Given the description of an element on the screen output the (x, y) to click on. 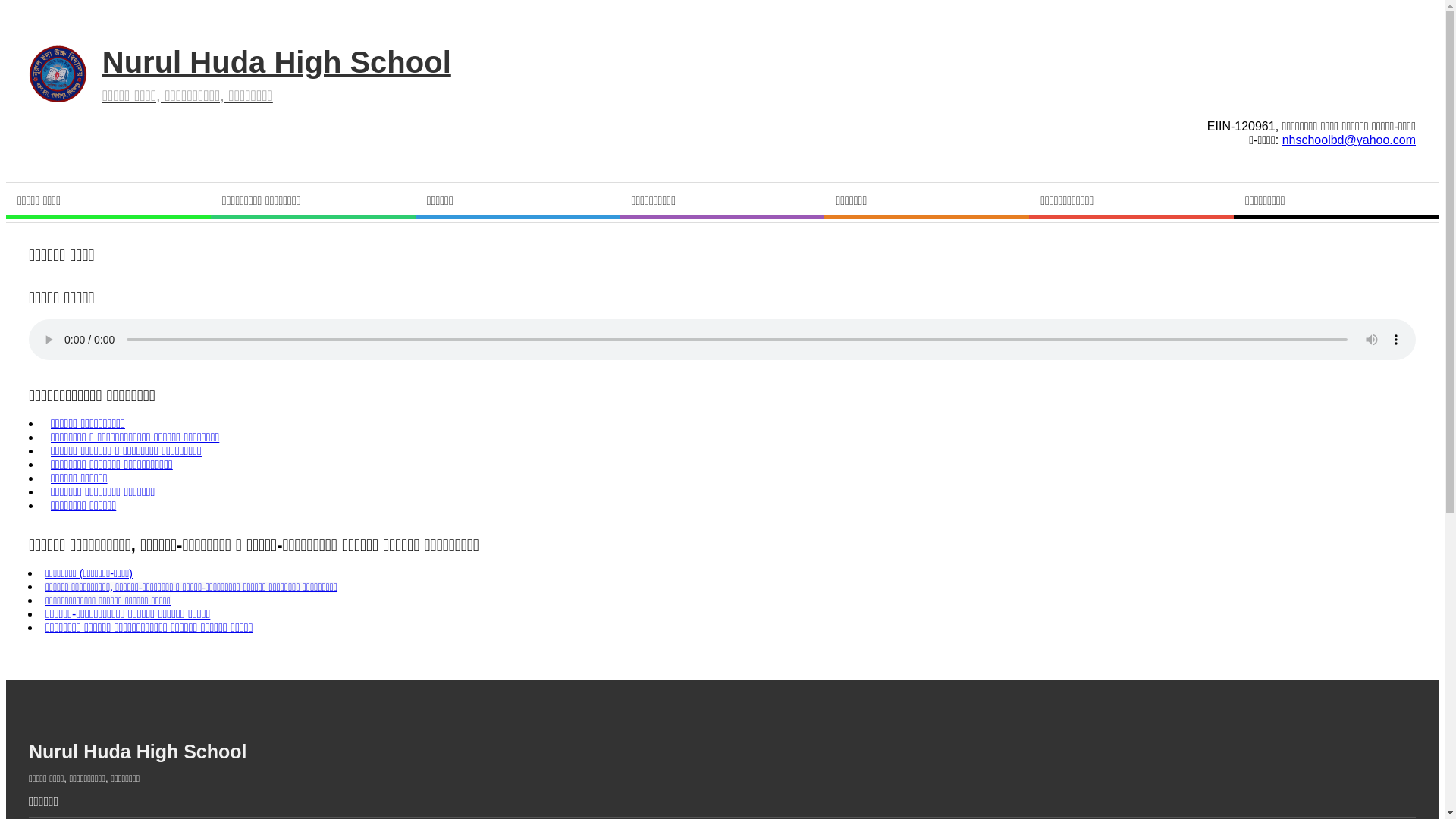
nhschoolbd@yahoo.com Element type: text (1348, 139)
